Given the description of an element on the screen output the (x, y) to click on. 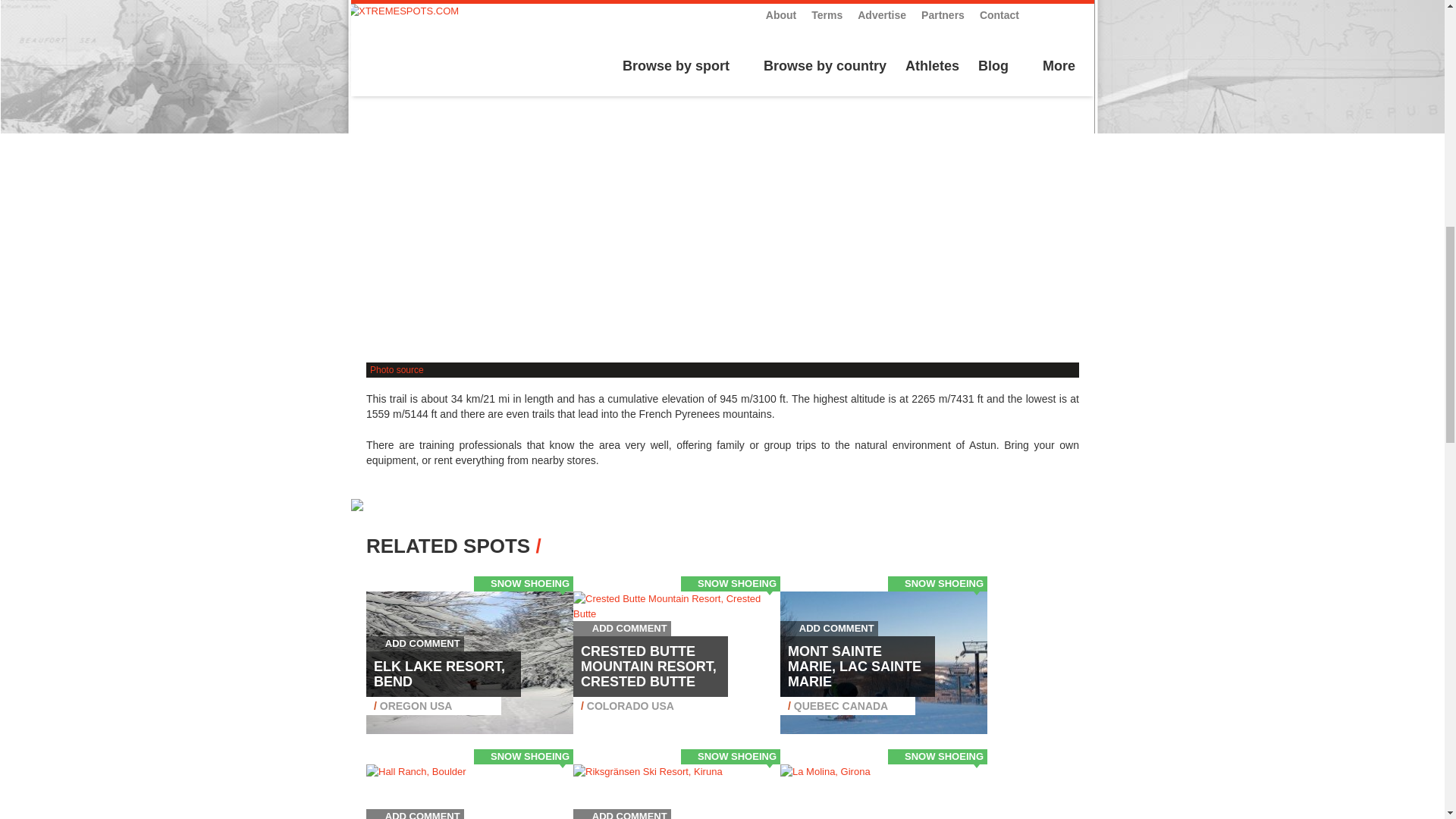
Photo source (396, 369)
  ADD COMMENT (415, 643)
ELK LAKE RESORT, BEND (439, 674)
SNOW SHOEING (529, 583)
